Given the description of an element on the screen output the (x, y) to click on. 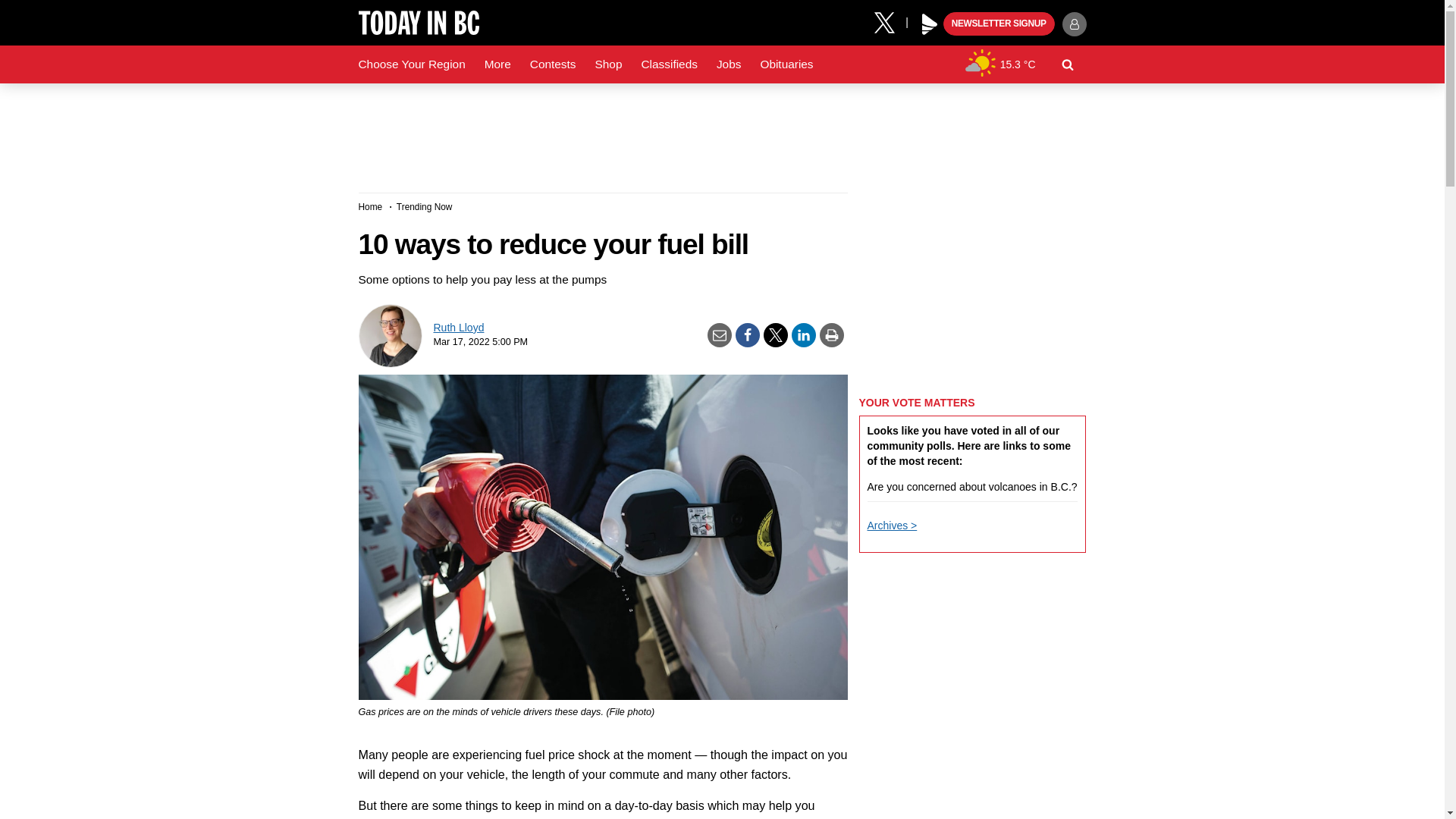
Contests (552, 64)
NEWSLETTER SIGNUP (998, 24)
Play (929, 24)
X (889, 21)
Black Press Media (929, 24)
